Given the description of an element on the screen output the (x, y) to click on. 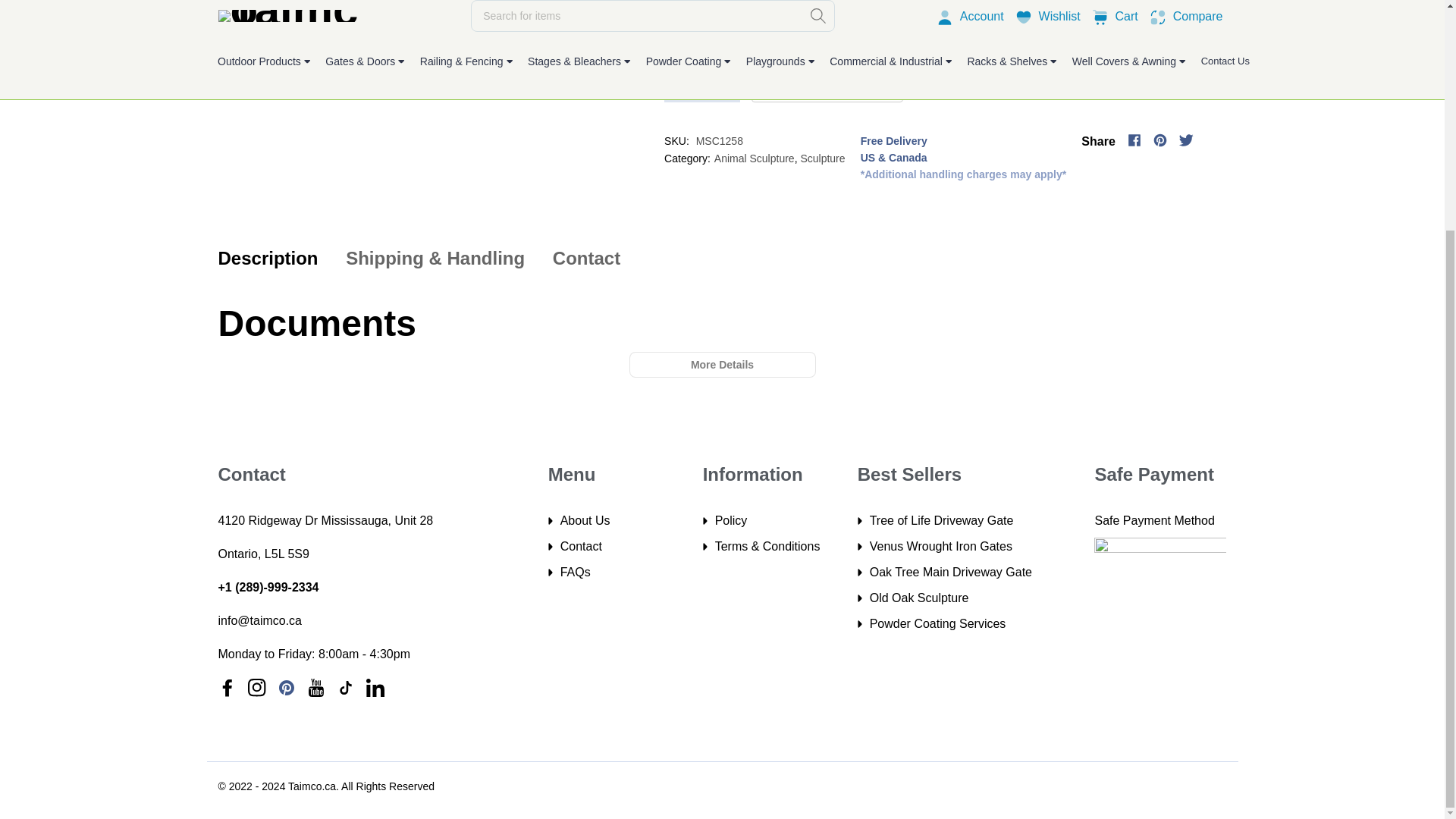
1 (702, 87)
